Given the description of an element on the screen output the (x, y) to click on. 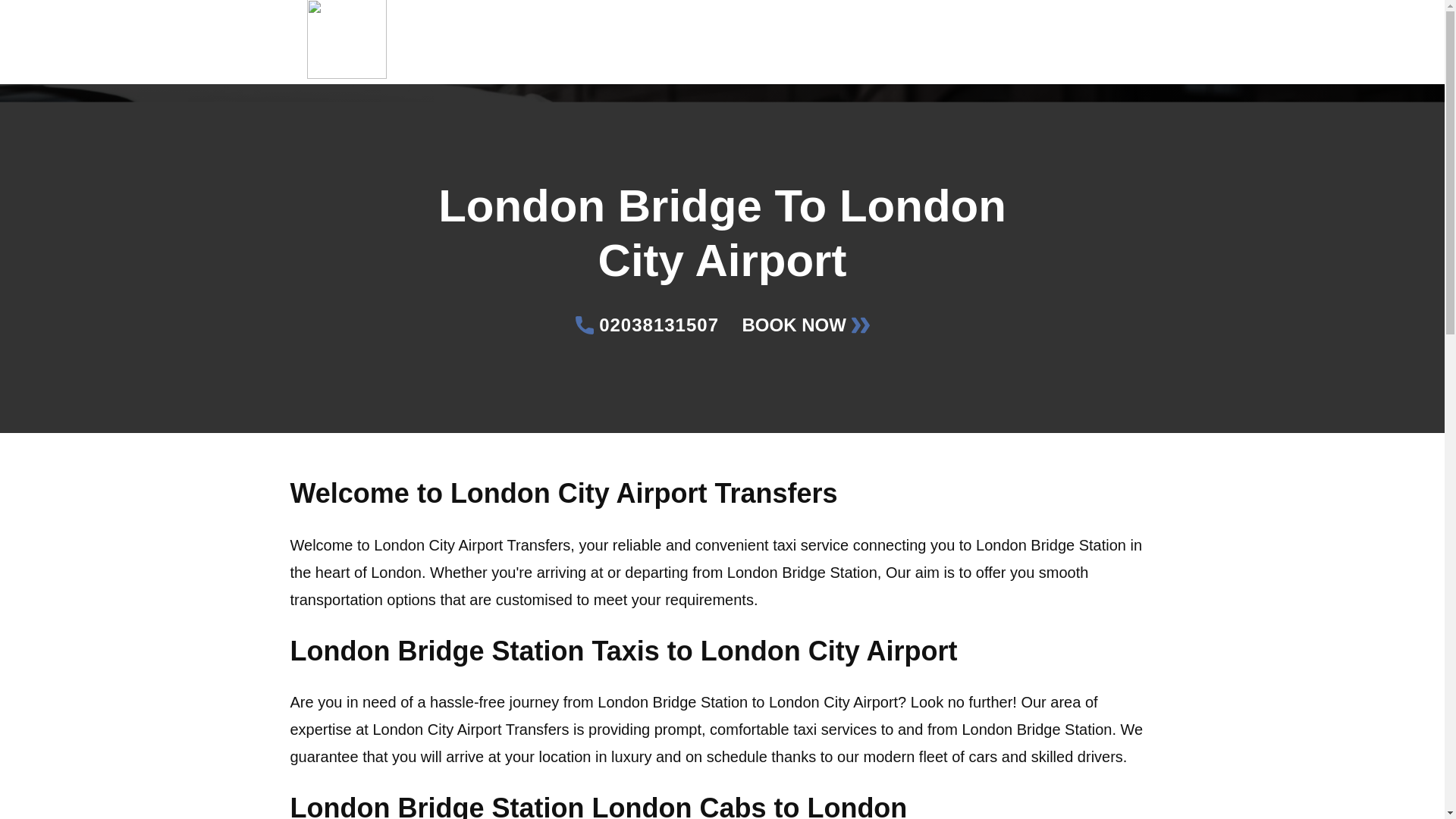
 02038131507 (647, 325)
BOOK NOW  (805, 325)
